Given the description of an element on the screen output the (x, y) to click on. 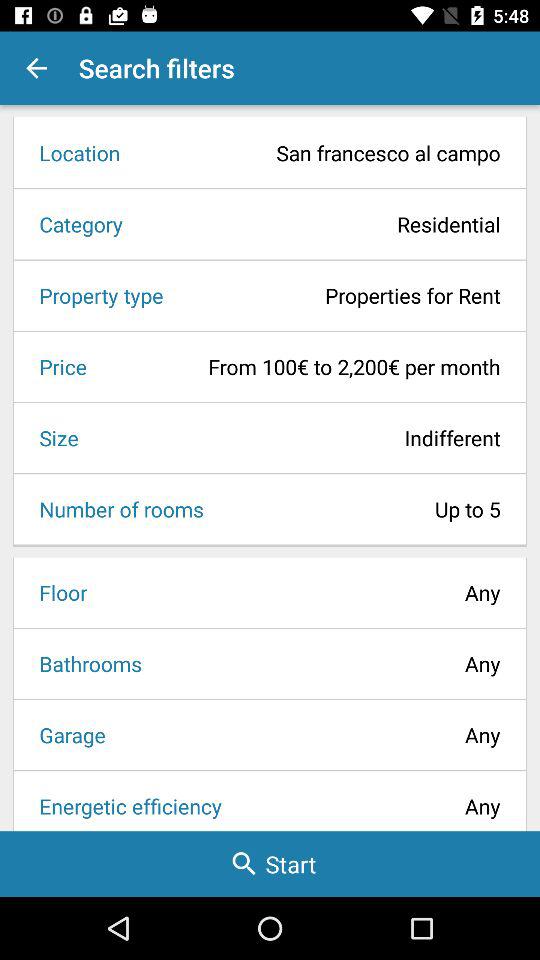
launch item next to the any (65, 734)
